Given the description of an element on the screen output the (x, y) to click on. 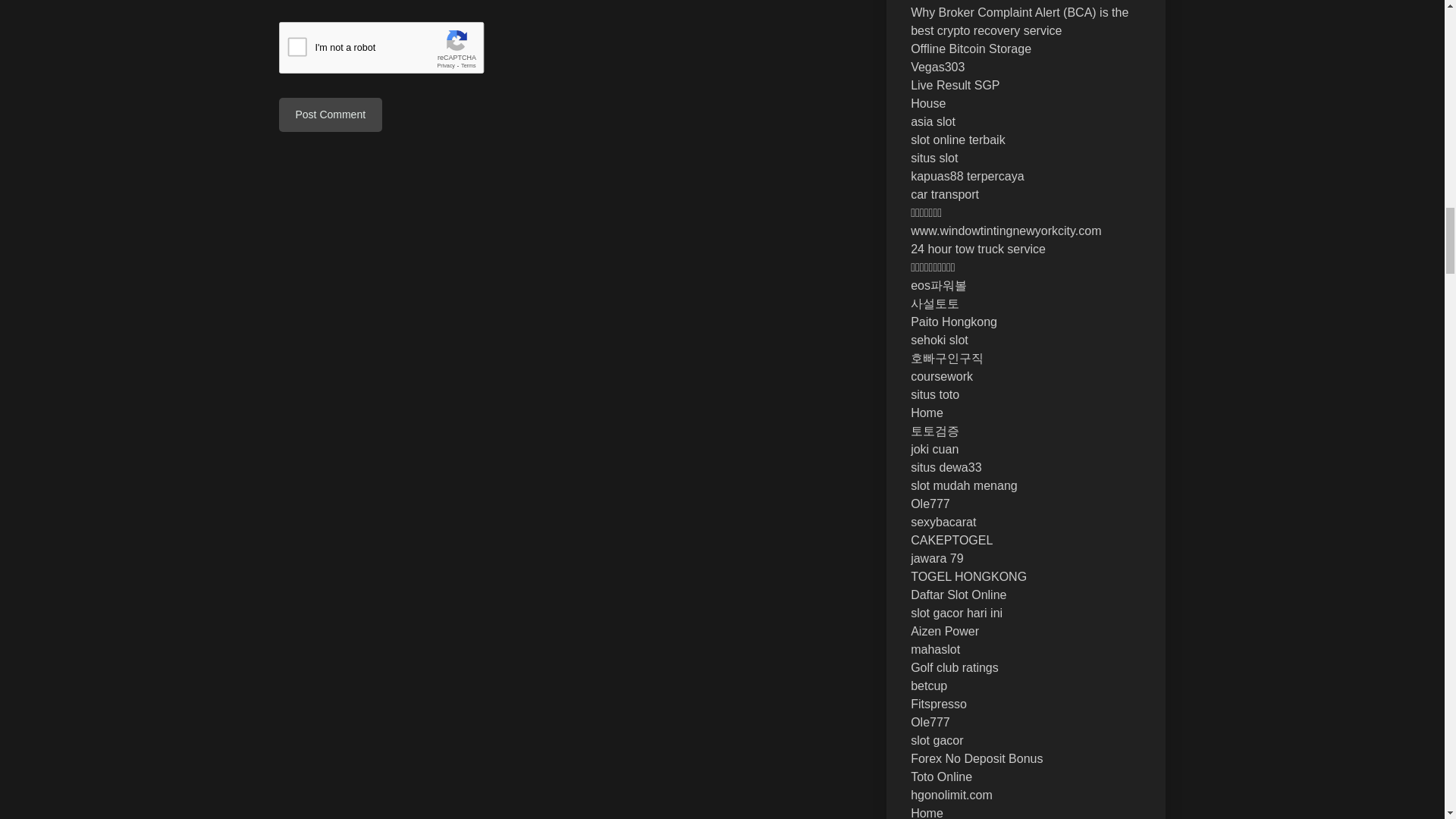
Post Comment (330, 114)
Post Comment (330, 114)
reCAPTCHA (394, 51)
betcup (929, 685)
